Given the description of an element on the screen output the (x, y) to click on. 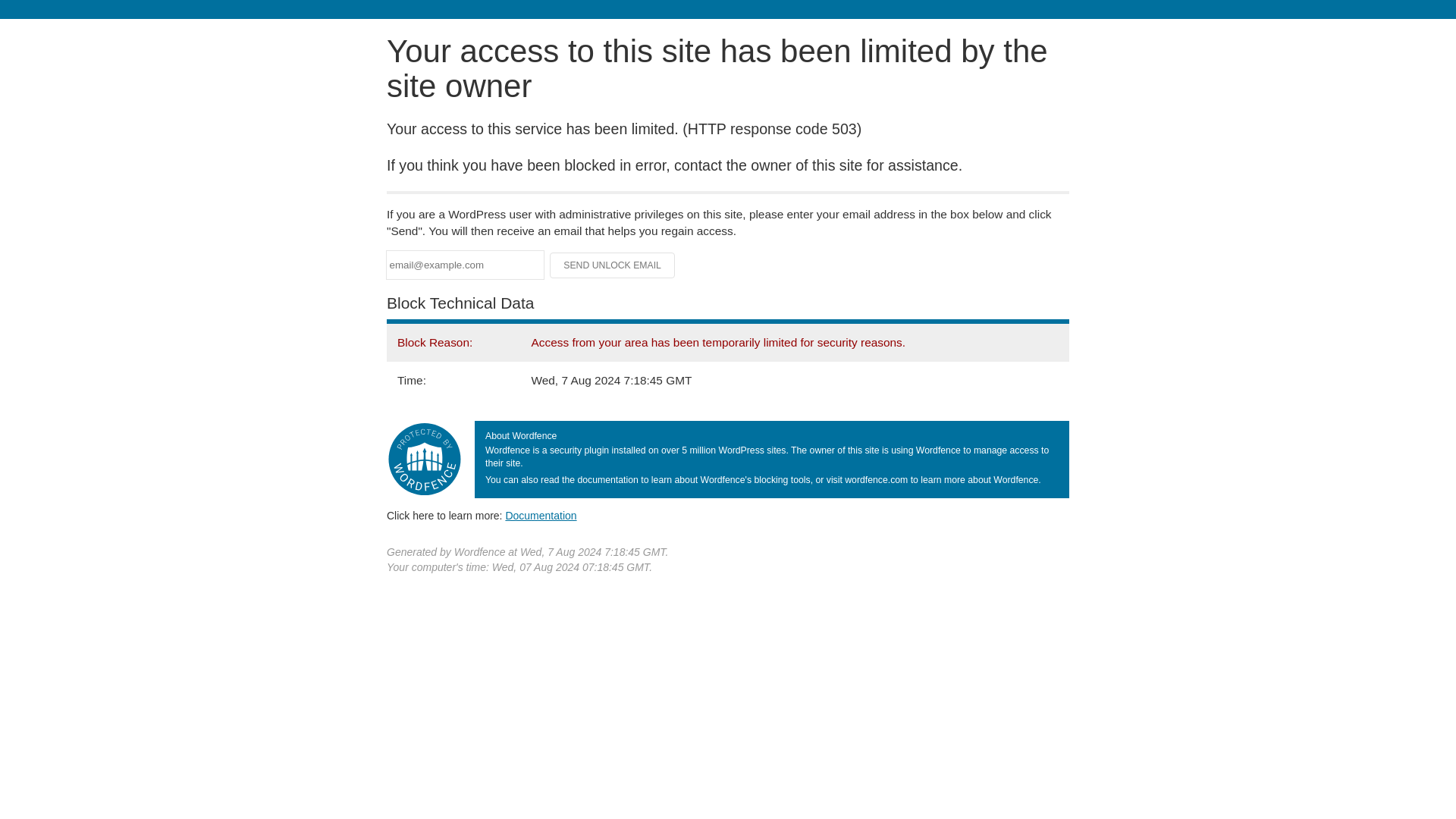
Send Unlock Email (612, 265)
Documentation (540, 515)
Send Unlock Email (612, 265)
